Given the description of an element on the screen output the (x, y) to click on. 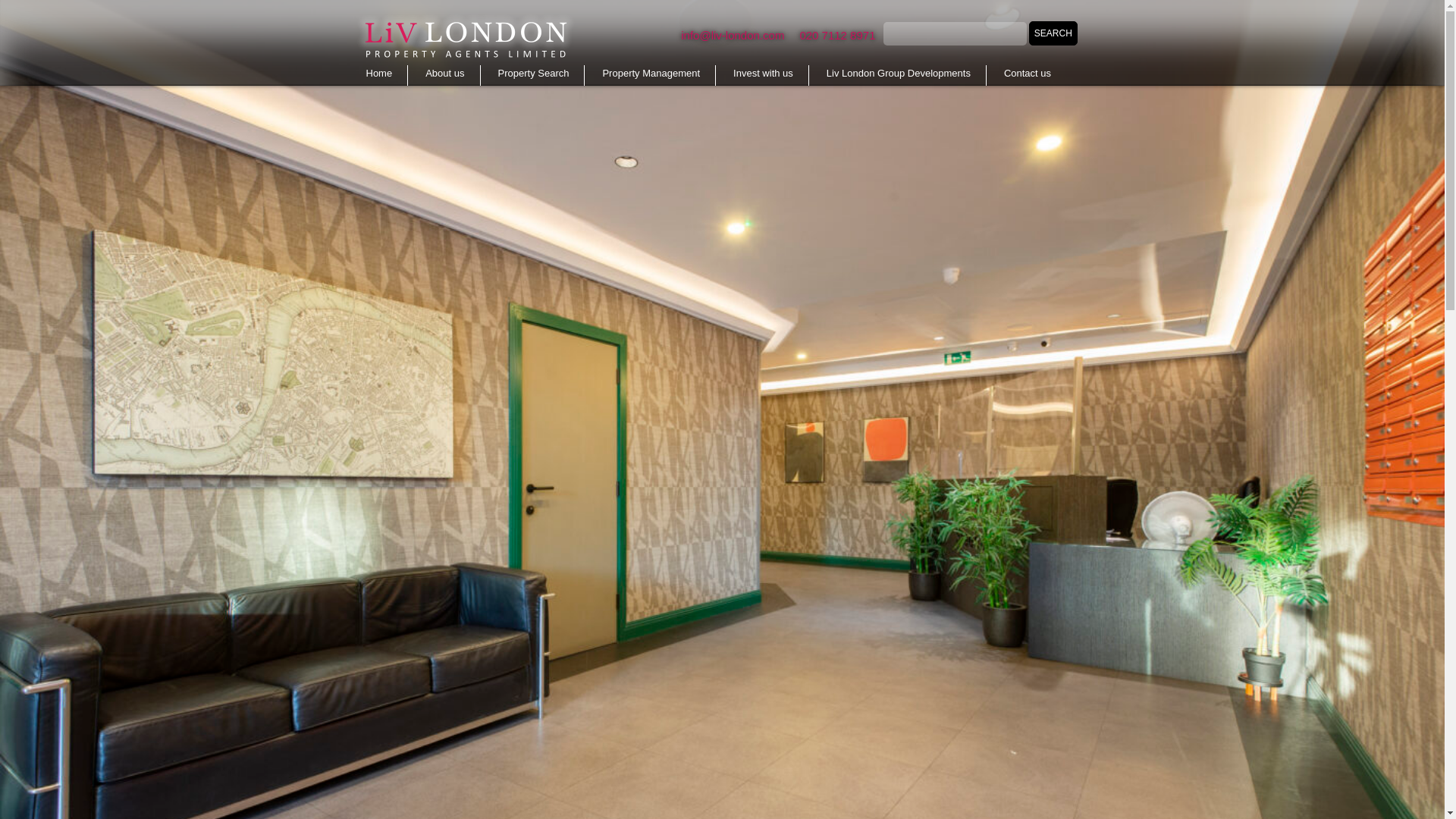
Search (1053, 33)
Property Search (534, 75)
Contact us (1026, 75)
Home (378, 75)
Liv London Group Developments (898, 75)
020 7112 8971 (837, 34)
Invest with us (763, 75)
Invest with us (763, 75)
Liv London Group Developments (898, 75)
